Given the description of an element on the screen output the (x, y) to click on. 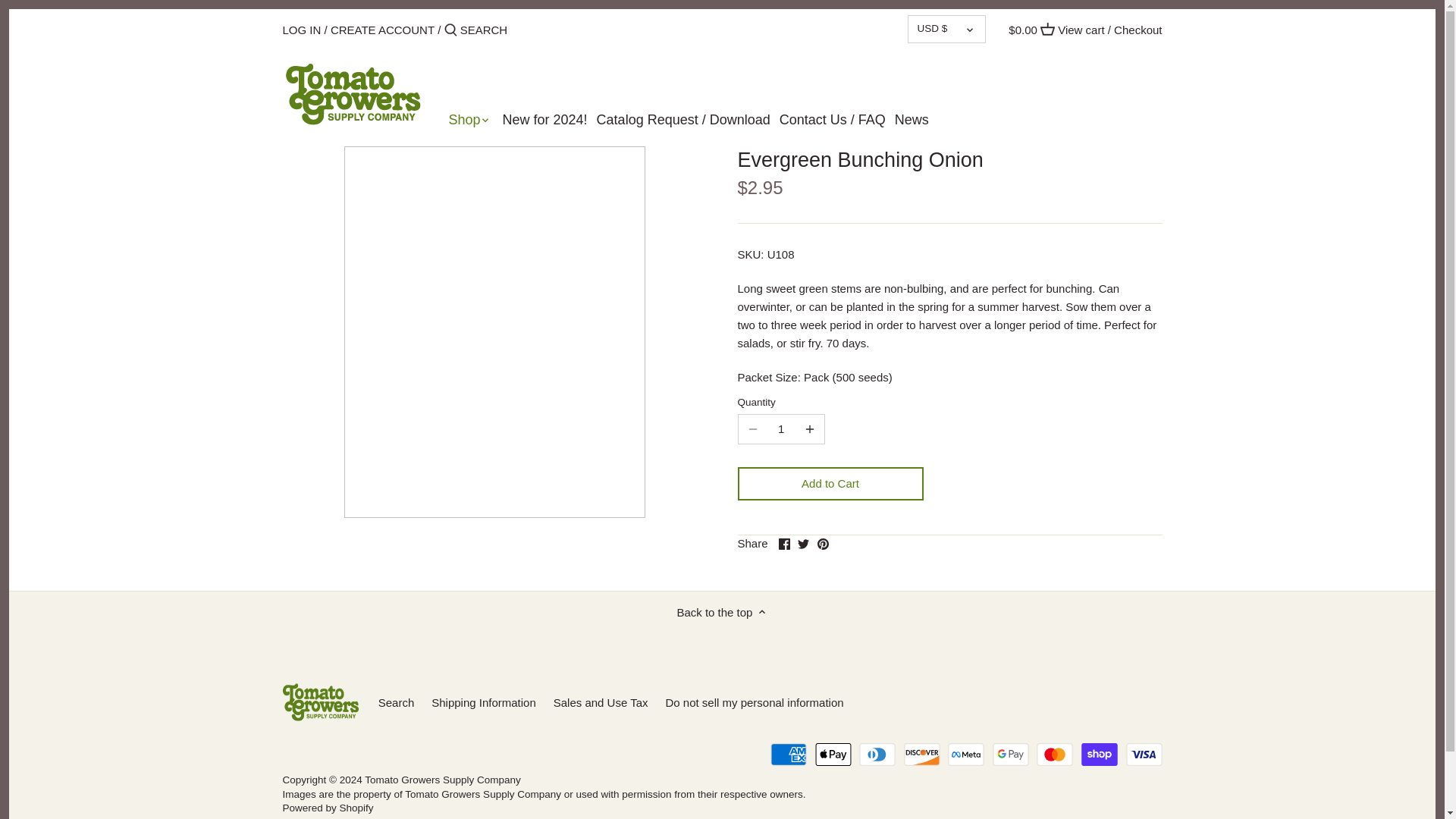
Visa (1143, 753)
Shop (468, 122)
Meta Pay (965, 753)
American Express (788, 753)
Google Pay (1010, 753)
Apple Pay (833, 753)
Pinterest (822, 543)
1 (781, 428)
Shop Pay (1099, 753)
CREATE ACCOUNT (381, 29)
